Given the description of an element on the screen output the (x, y) to click on. 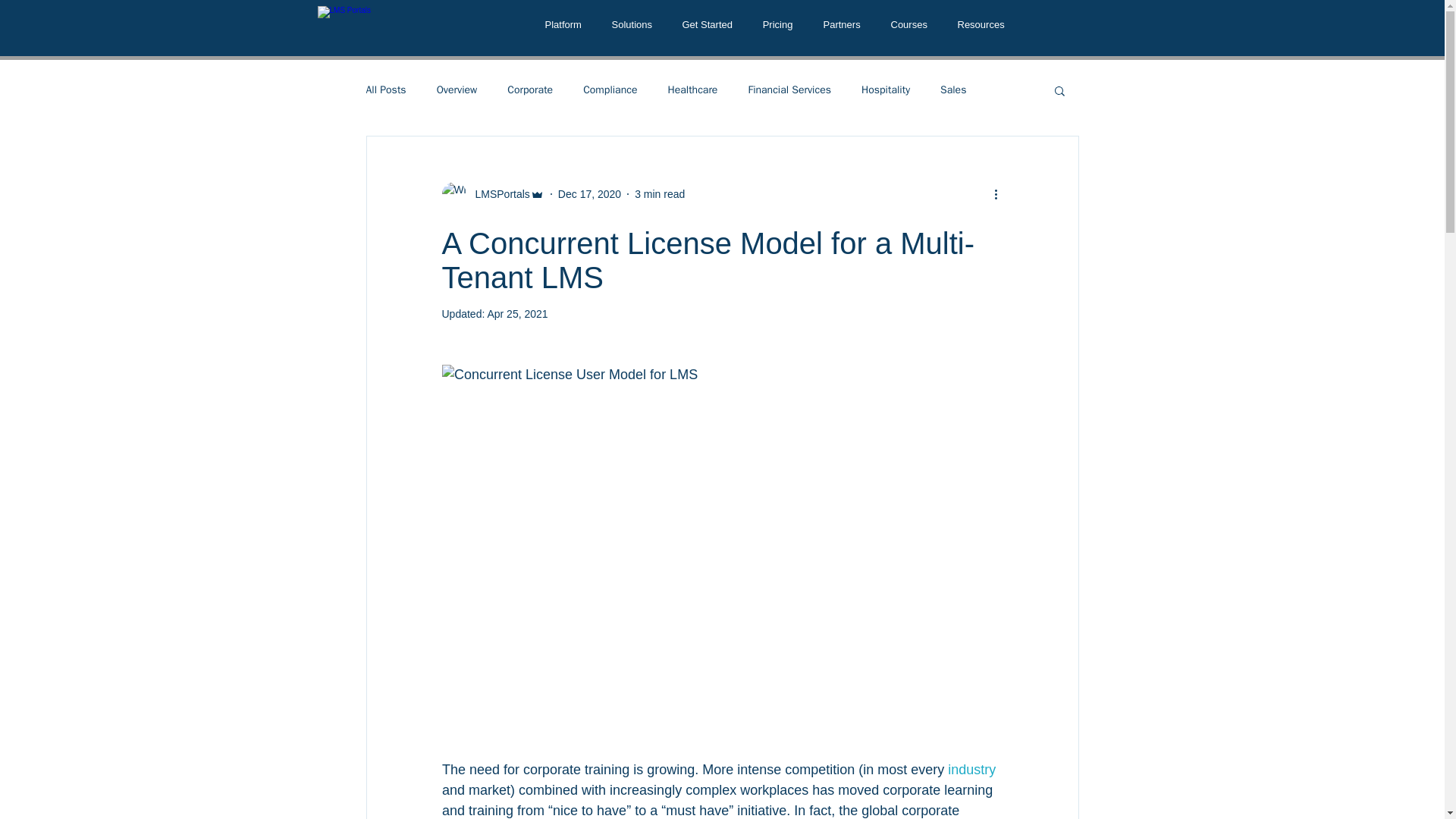
Pricing (778, 24)
Financial Services (789, 90)
Platform (562, 24)
Get Started (707, 24)
LMSPortals (492, 193)
Corporate (529, 90)
industry  (972, 769)
Compliance (610, 90)
3 min read (659, 193)
Hospitality (885, 90)
Overview (456, 90)
Dec 17, 2020 (589, 193)
LMSPortals (497, 194)
Partners (842, 24)
Apr 25, 2021 (516, 313)
